Given the description of an element on the screen output the (x, y) to click on. 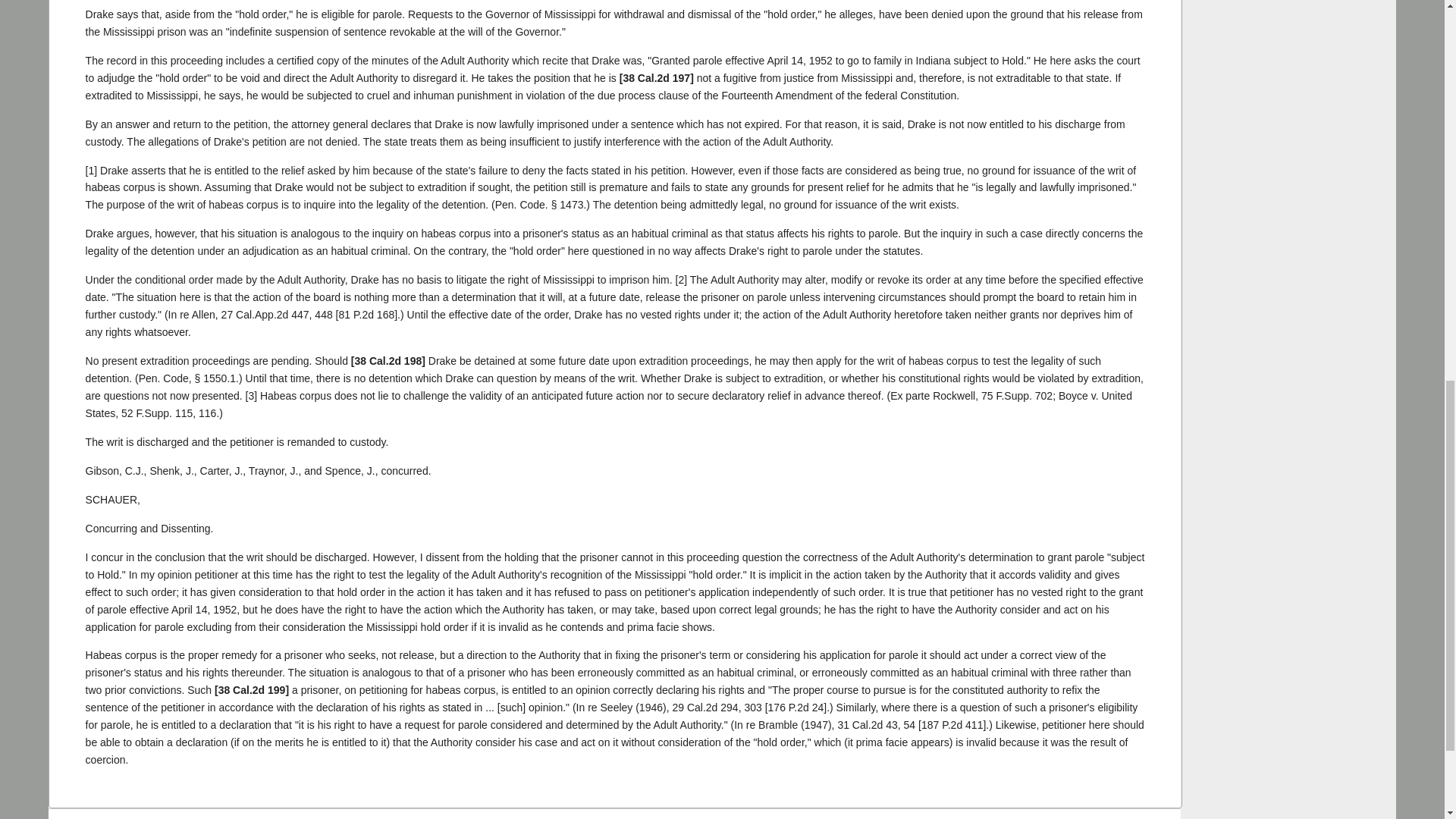
31 Cal.2d 43 (866, 725)
In re Bramble (866, 725)
In re Seeley (704, 707)
29 Cal.2d 294 (704, 707)
